Given the description of an element on the screen output the (x, y) to click on. 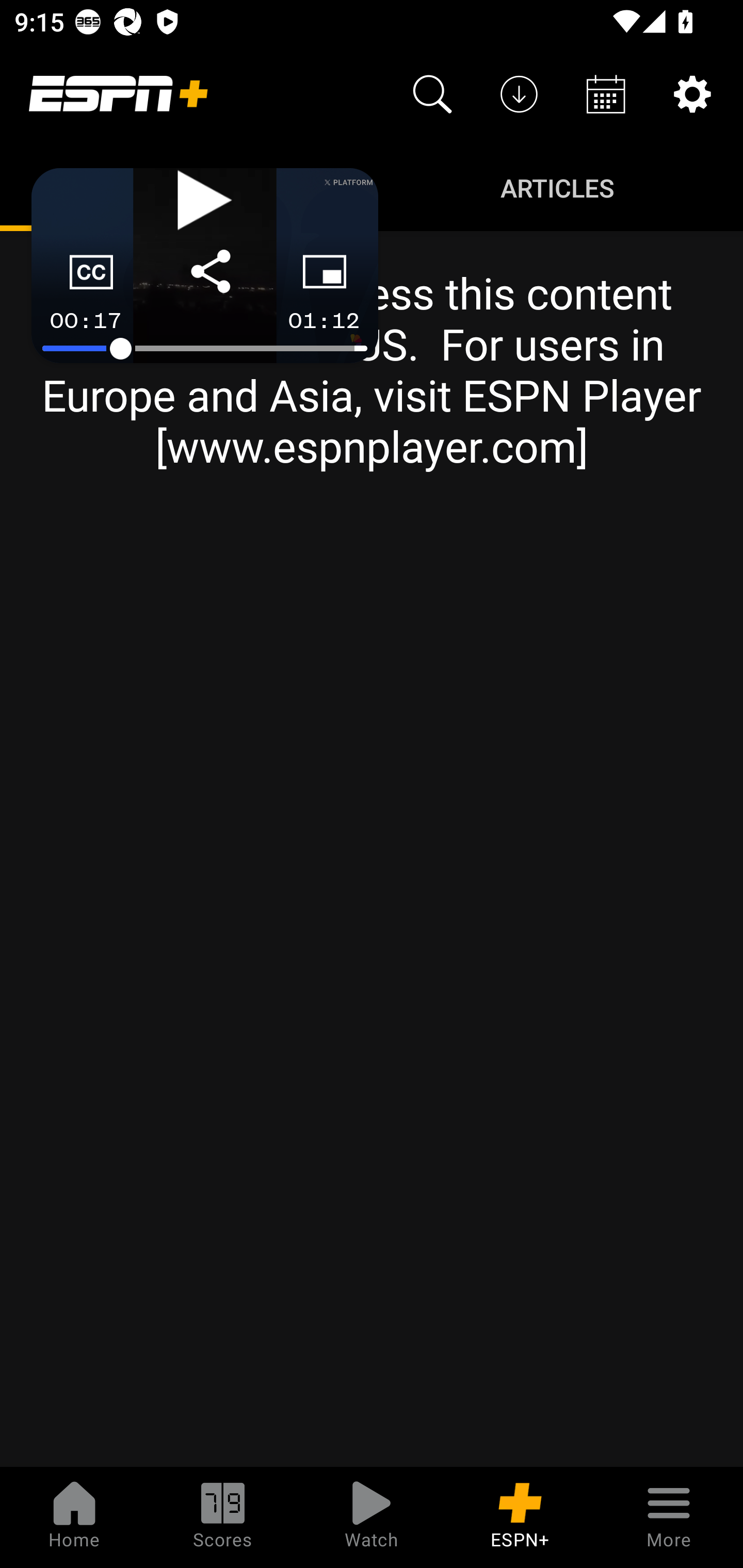
Search (432, 93)
Downloads (518, 93)
Schedule (605, 93)
Settings (692, 93)
Articles ARTICLES (557, 187)
Home (74, 1517)
Scores (222, 1517)
Watch (371, 1517)
More (668, 1517)
